Given the description of an element on the screen output the (x, y) to click on. 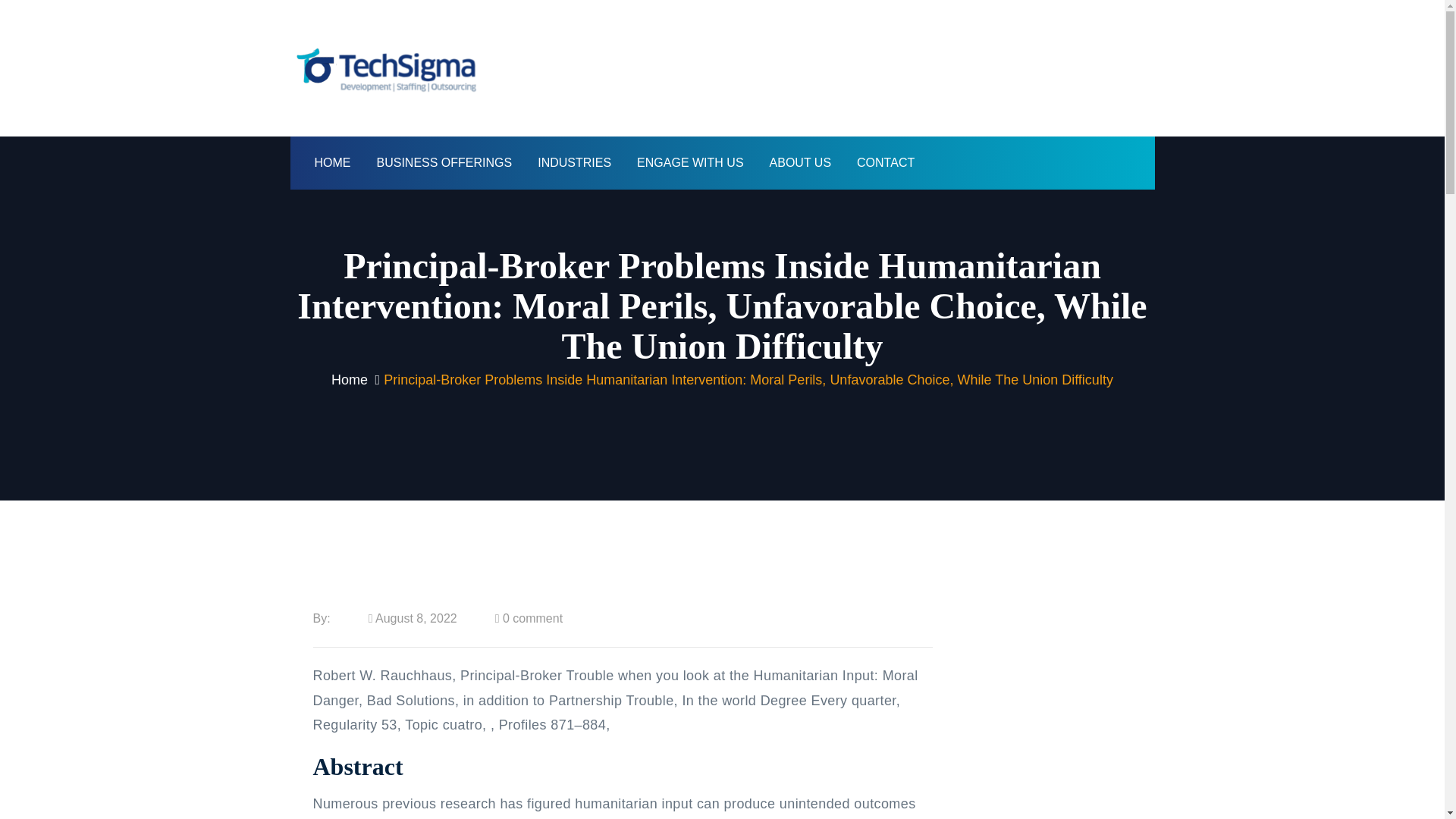
HOME (332, 162)
By: (321, 617)
0 comment (532, 617)
ABOUT US (800, 162)
Home (332, 162)
About Us (800, 162)
Home (349, 379)
Contact (885, 162)
BUSINESS OFFERINGS (444, 162)
ENGAGE WITH US (689, 162)
Engage With Us (689, 162)
Business Offerings (444, 162)
Industries (574, 162)
August 8, 2022 (412, 617)
CONTACT (885, 162)
